Given the description of an element on the screen output the (x, y) to click on. 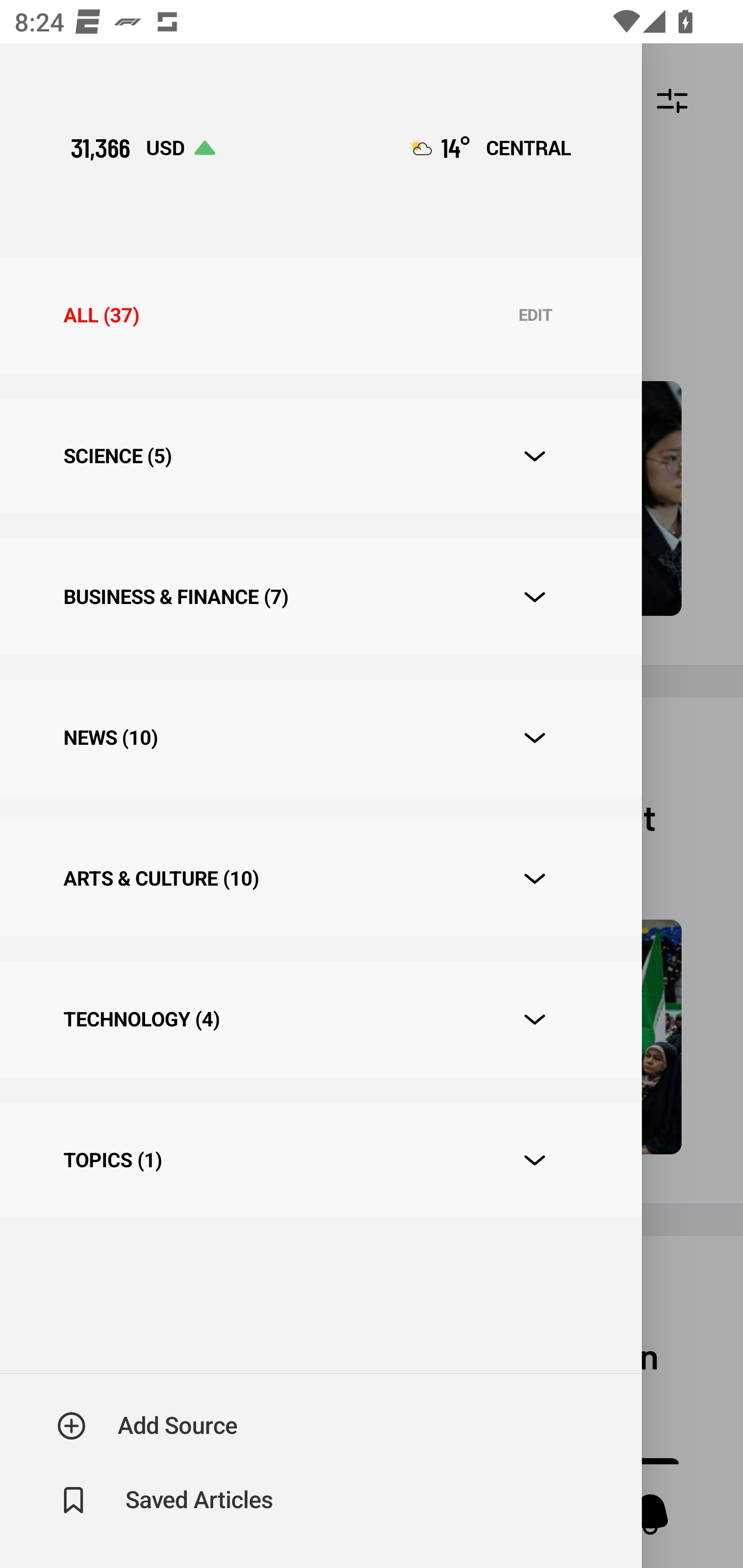
31,366 USD Current State of the Currency (142, 147)
Current State of the Weather 14° CENTRAL (490, 147)
ALL  (37) EDIT (320, 315)
EDIT (534, 315)
SCIENCE  (5) Expand Button (320, 456)
Expand Button (534, 456)
BUSINESS & FINANCE  (7) Expand Button (320, 596)
Expand Button (534, 597)
NEWS  (10) Expand Button (320, 737)
Expand Button (534, 737)
ARTS & CULTURE  (10) Expand Button (320, 878)
Expand Button (534, 878)
TECHNOLOGY  (4) Expand Button (320, 1019)
Expand Button (534, 1019)
TOPICS  (1) Expand Button (320, 1160)
Expand Button (534, 1160)
Open Content Store Add Source (147, 1425)
Open Saved News  Saved Articles (166, 1500)
